Given the description of an element on the screen output the (x, y) to click on. 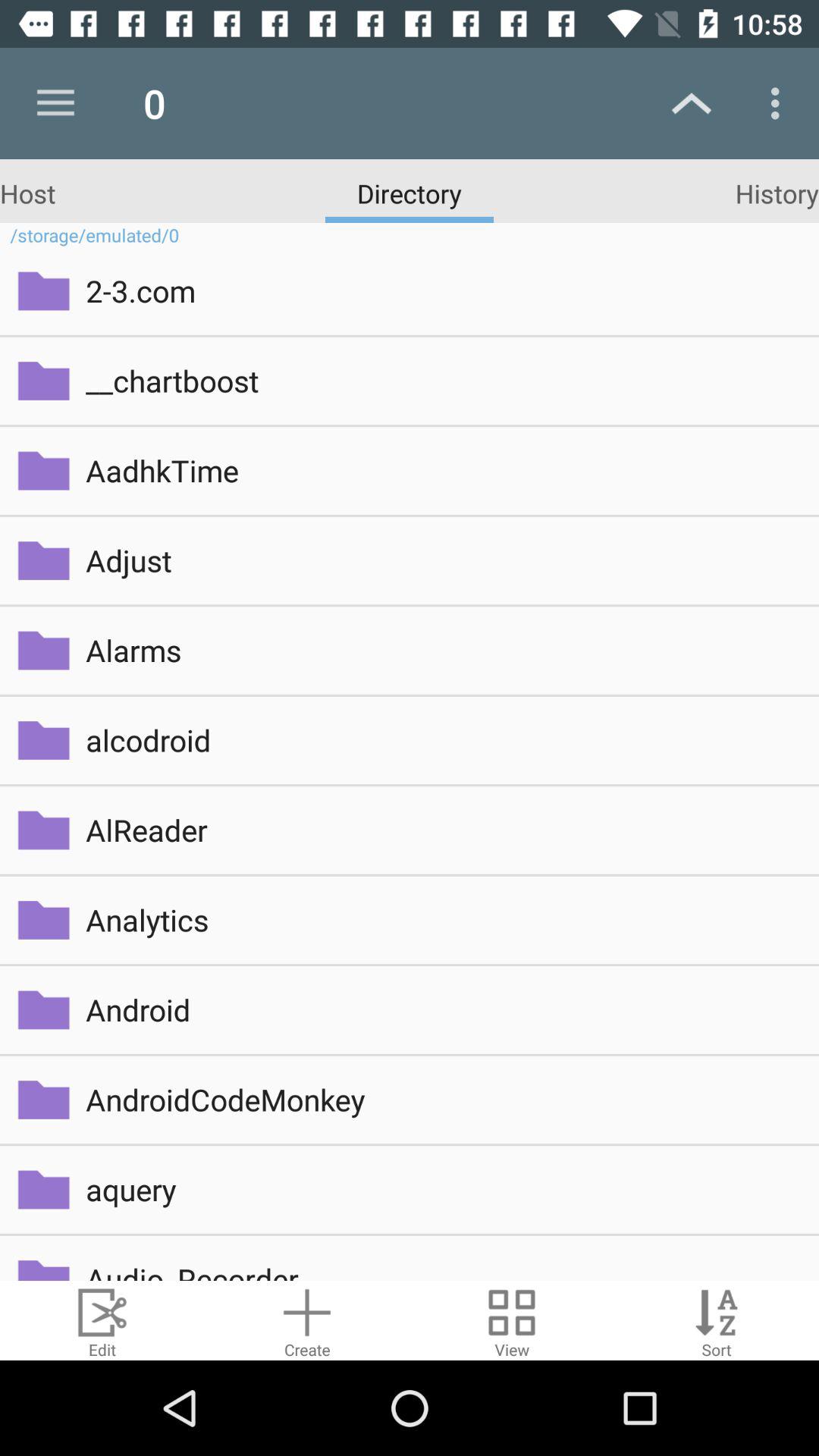
jump to the alreader item (441, 829)
